Given the description of an element on the screen output the (x, y) to click on. 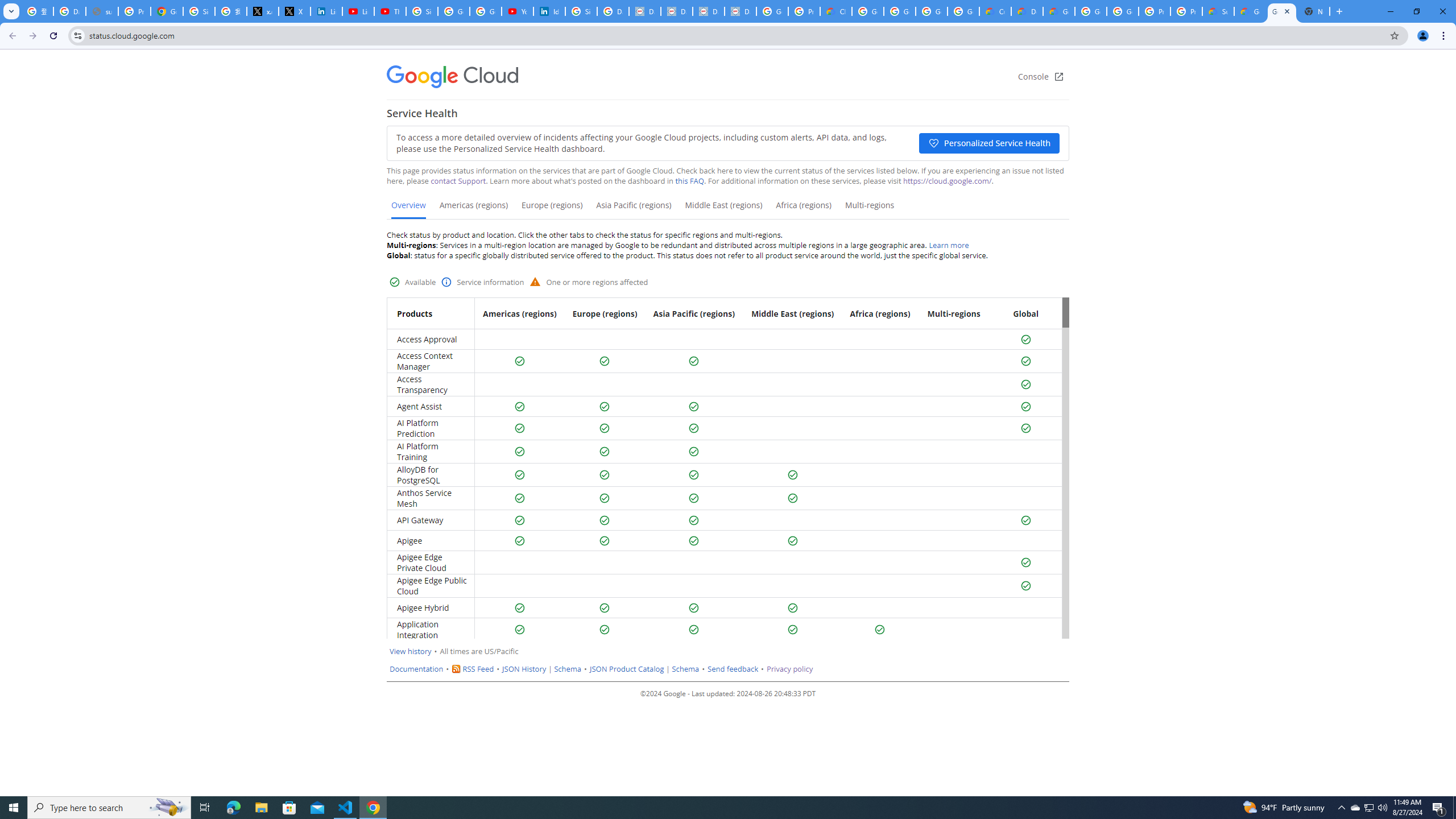
Privacy policy (789, 668)
JSON Product Catalog (626, 668)
Customer Care | Google Cloud (995, 11)
Sign in - Google Accounts (198, 11)
Europe (regions) (551, 209)
